Given the description of an element on the screen output the (x, y) to click on. 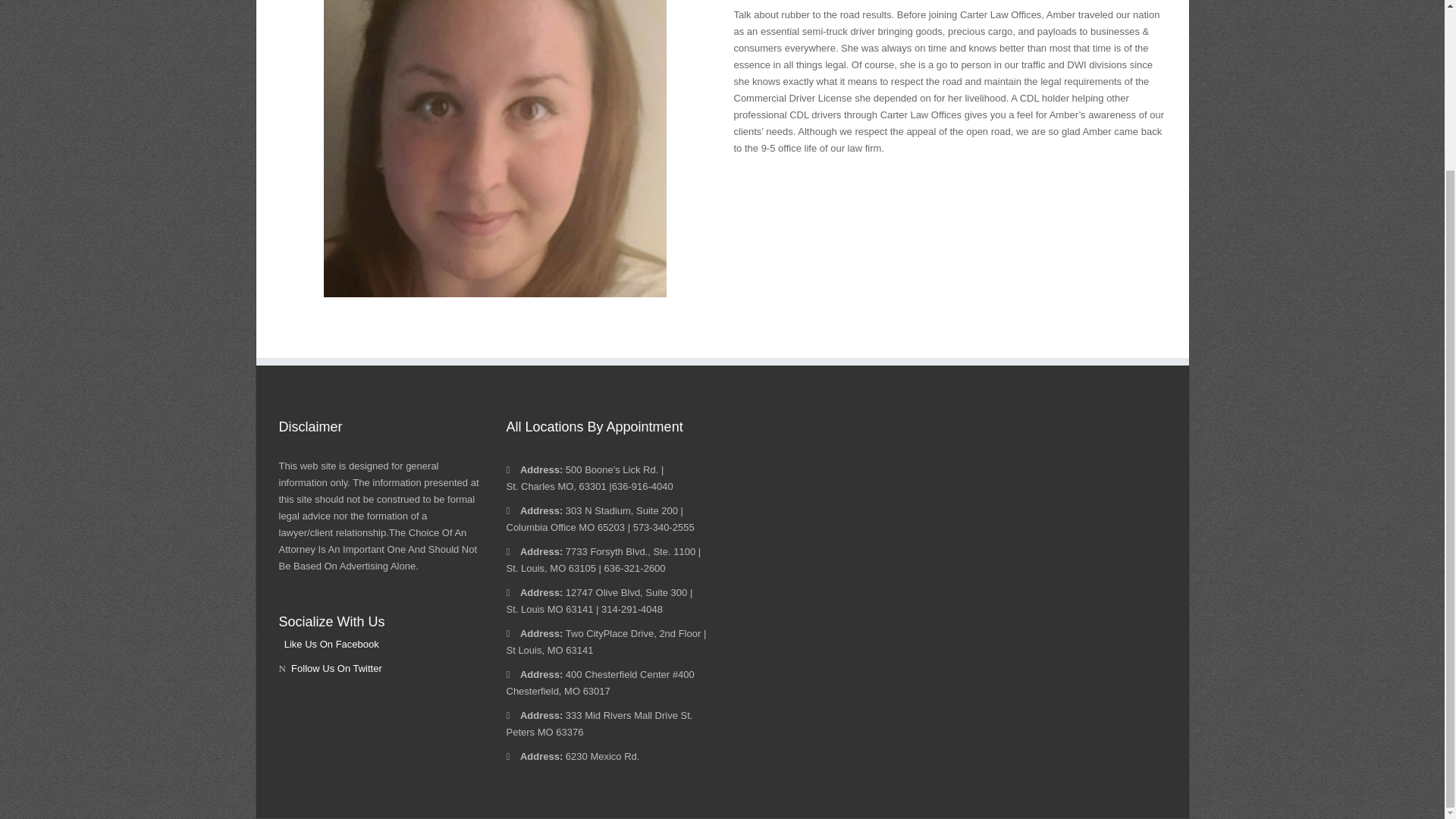
  Like Us On Facebook (328, 644)
  Follow Us On Twitter (330, 668)
